Given the description of an element on the screen output the (x, y) to click on. 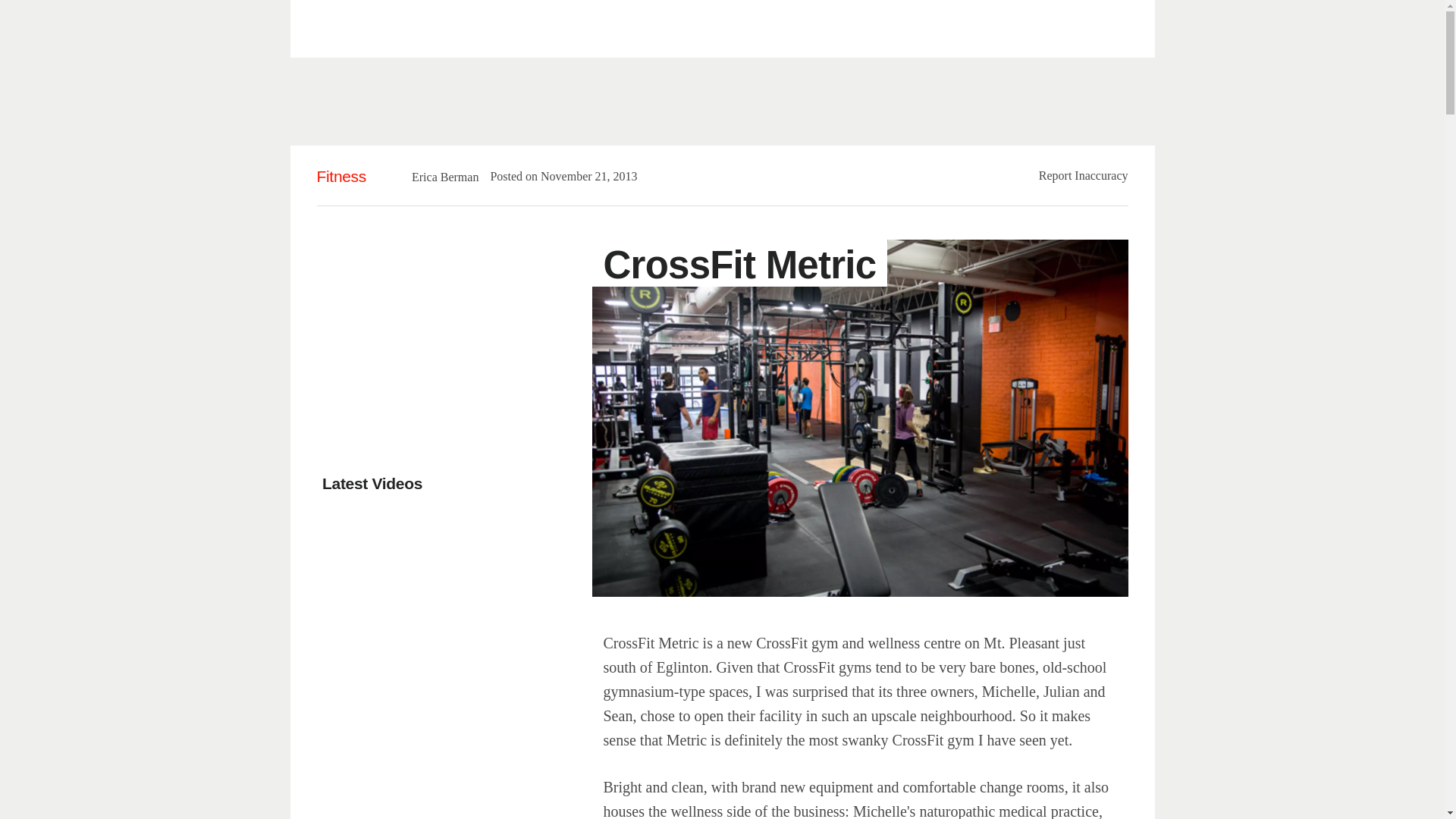
Fitness (341, 175)
2013-11-21T00:00:00.410000 (581, 175)
Report Inaccuracy (1083, 174)
